Given the description of an element on the screen output the (x, y) to click on. 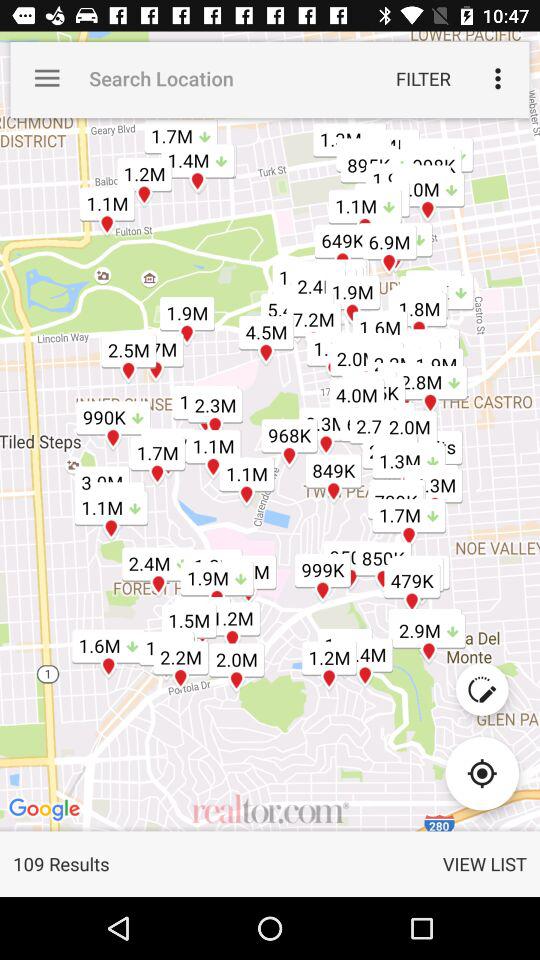
turn off the app to the right of search location item (423, 78)
